Given the description of an element on the screen output the (x, y) to click on. 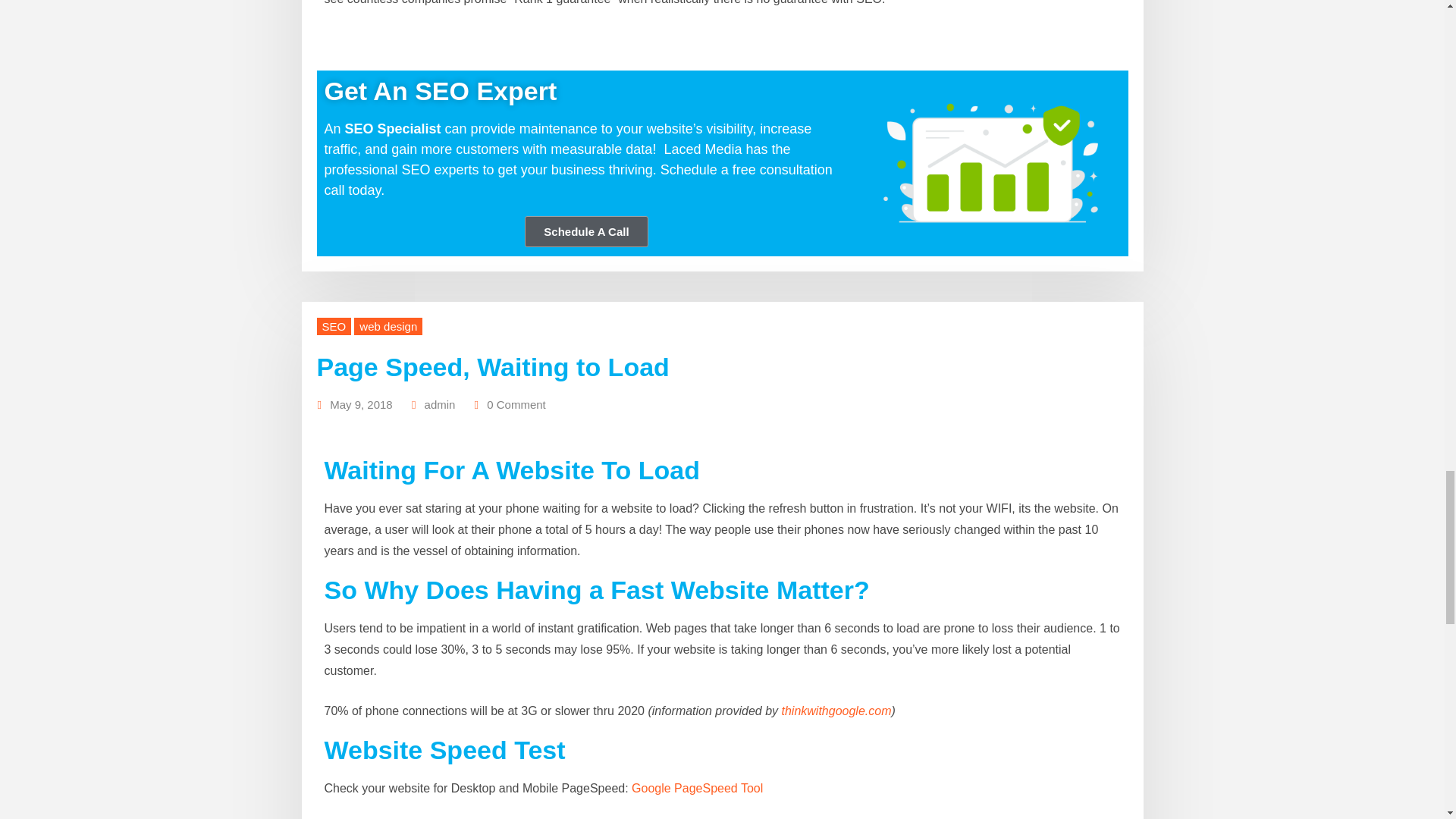
Schedule A Call (585, 231)
